Given the description of an element on the screen output the (x, y) to click on. 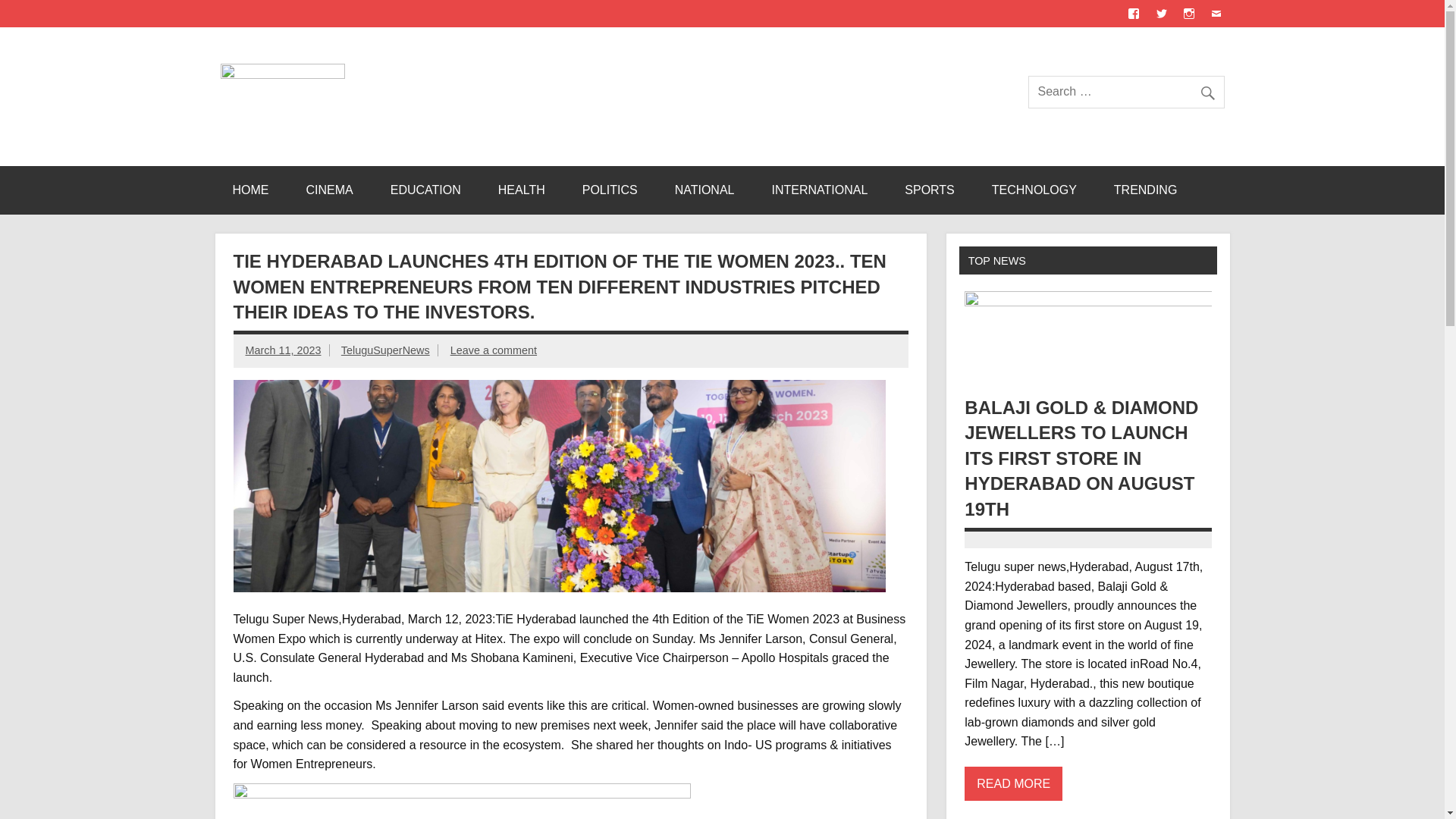
HOME (250, 190)
HEALTH (521, 190)
READ MORE (1012, 783)
TECHNOLOGY (1034, 190)
SPORTS (929, 190)
CINEMA (329, 190)
EDUCATION (425, 190)
POLITICS (610, 190)
6:35 pm (283, 349)
TRENDING (1145, 190)
